Given the description of an element on the screen output the (x, y) to click on. 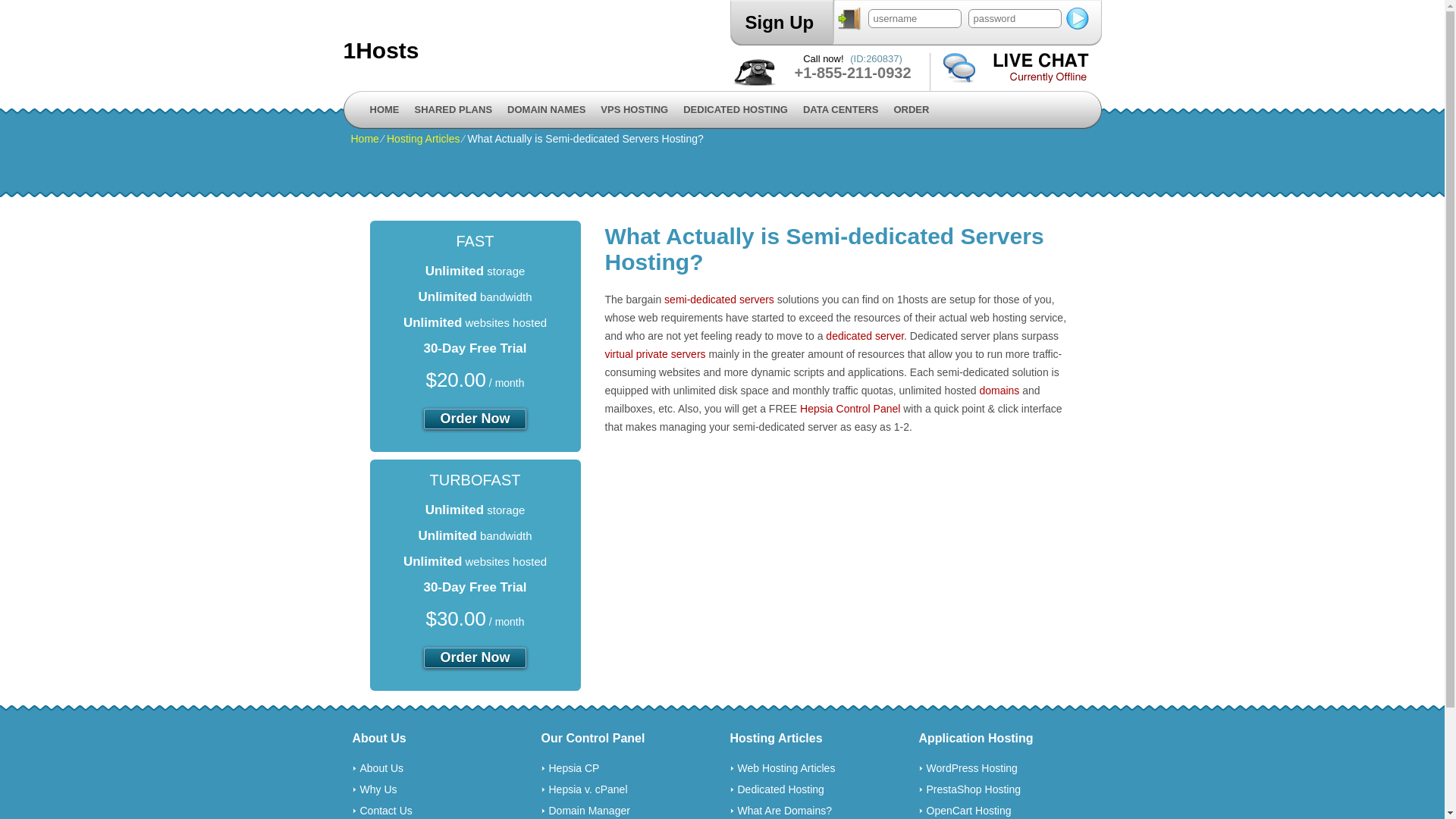
Dedicated Hosting Element type: text (780, 789)
domains Element type: text (999, 390)
1Hosts Element type: text (531, 50)
  Element type: text (1077, 18)
WordPress Hosting Element type: text (971, 768)
DATA CENTERS Element type: text (840, 109)
VPS HOSTING Element type: text (634, 109)
Why Us Element type: text (377, 789)
Home Element type: text (364, 138)
Hepsia Control Panel Element type: text (850, 408)
About Us Element type: text (381, 768)
SHARED PLANS Element type: text (452, 109)
DEDICATED HOSTING Element type: text (735, 109)
Contact Us Element type: text (385, 810)
ORDER Element type: text (910, 109)
dedicated server Element type: text (864, 335)
What Are Domains? Element type: text (784, 810)
HOME Element type: text (384, 109)
Hepsia CP Element type: text (574, 768)
Hosting Articles Element type: text (422, 138)
virtual private servers Element type: text (655, 354)
Domain Manager Element type: text (589, 810)
Order Now Element type: text (474, 657)
OpenCart Hosting Element type: text (968, 810)
DOMAIN NAMES Element type: text (546, 109)
PrestaShop Hosting Element type: text (973, 789)
Sign Up Element type: text (778, 22)
Web Hosting Articles Element type: text (785, 768)
Hepsia v. cPanel Element type: text (588, 789)
semi-dedicated servers Element type: text (719, 299)
Order Now Element type: text (474, 418)
